Given the description of an element on the screen output the (x, y) to click on. 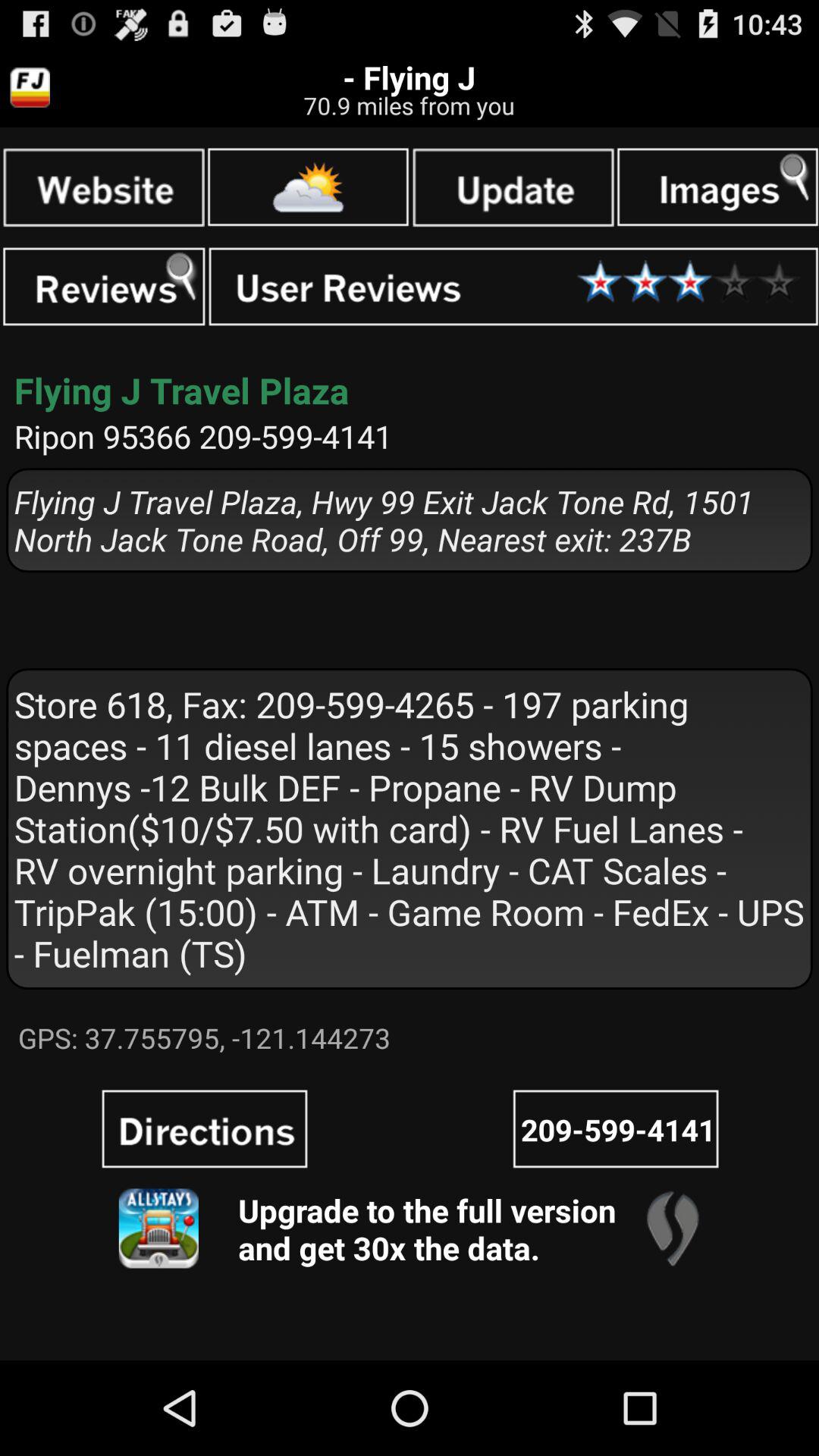
app image (158, 1228)
